Given the description of an element on the screen output the (x, y) to click on. 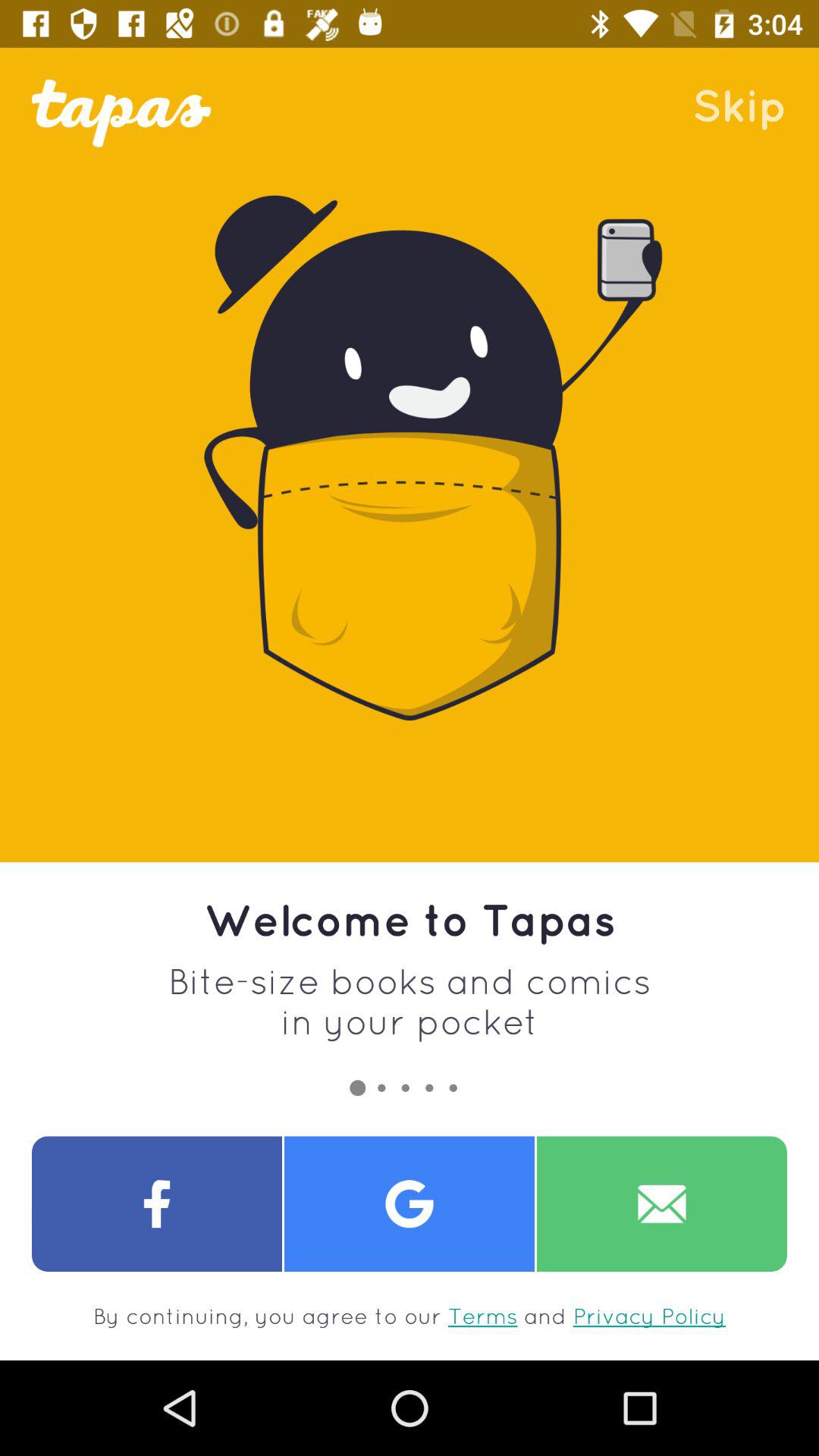
shows message icon (661, 1203)
